Given the description of an element on the screen output the (x, y) to click on. 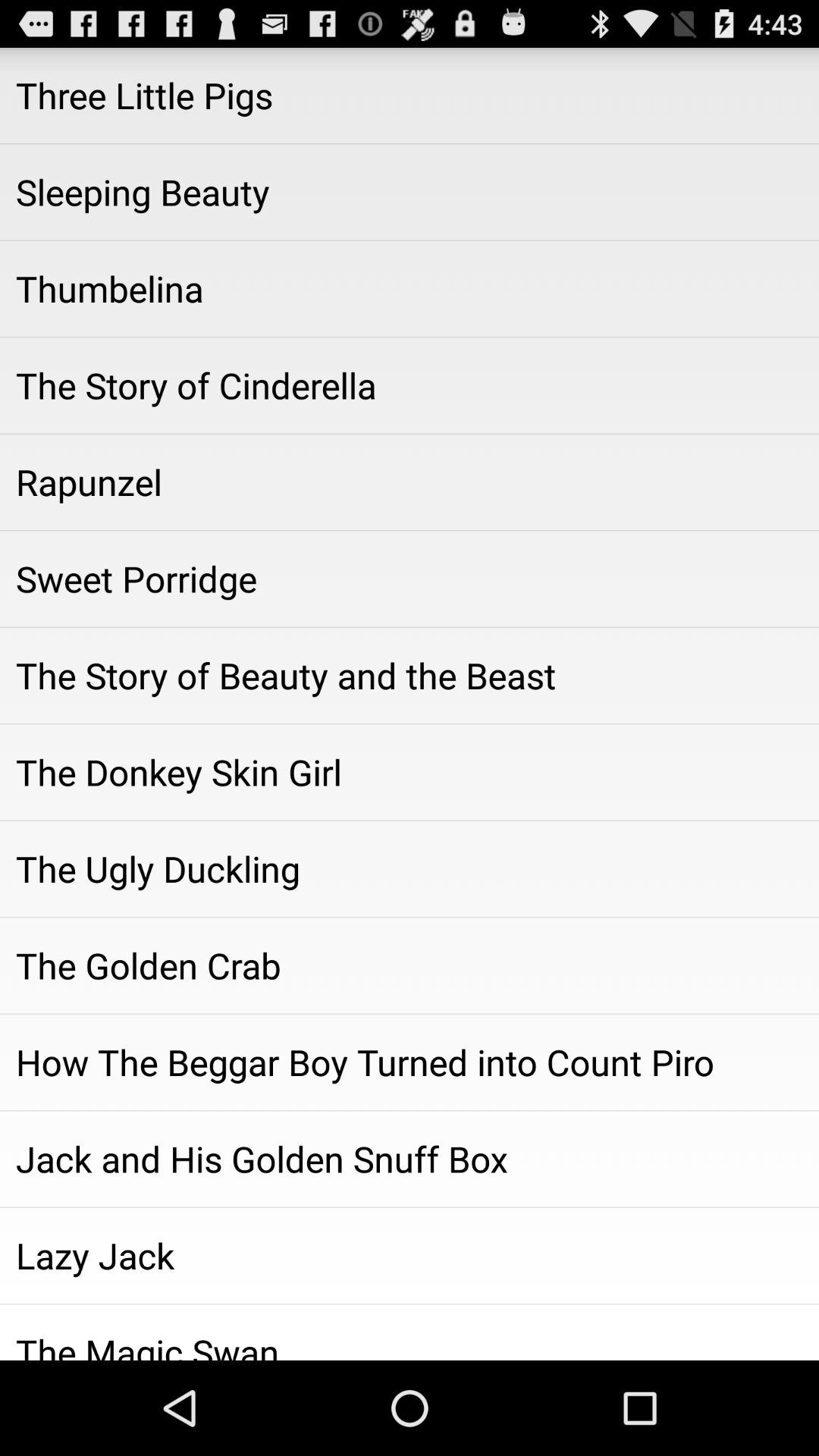
open the item below the lazy jack app (409, 1332)
